Given the description of an element on the screen output the (x, y) to click on. 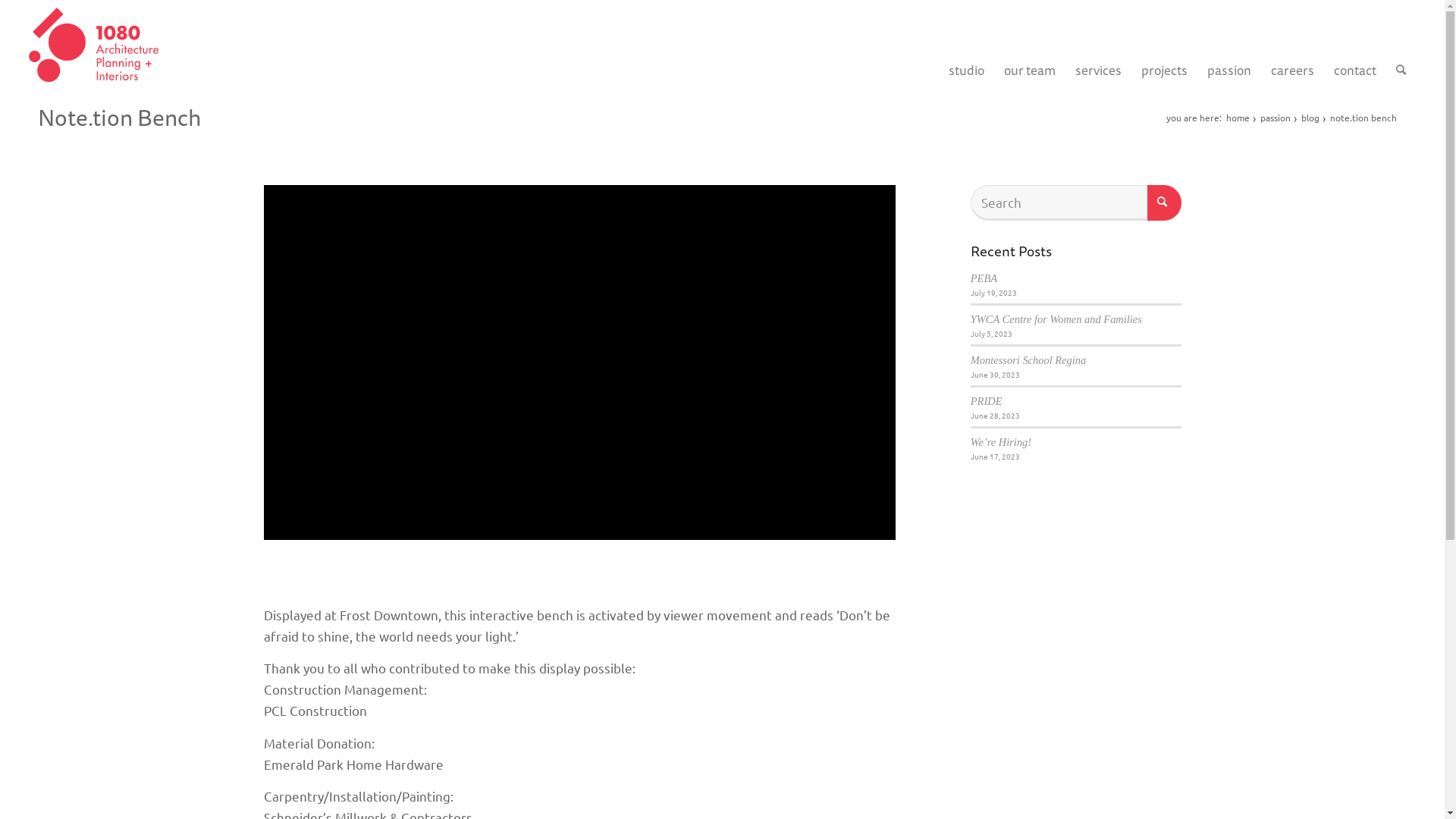
passion Element type: text (1229, 44)
YWCA Centre for Women and Families Element type: text (1056, 319)
services Element type: text (1098, 44)
our team Element type: text (1029, 44)
contact Element type: text (1355, 44)
PEBA Element type: text (983, 278)
passion Element type: text (1275, 117)
Montessori School Regina Element type: text (1027, 360)
PRIDE Element type: text (986, 401)
blog Element type: text (1310, 117)
Note.tion Bench Element type: text (118, 116)
careers Element type: text (1292, 44)
home Element type: text (1237, 117)
projects Element type: text (1164, 44)
Note.tion Bench Element type: hover (579, 362)
studio Element type: text (966, 44)
